Given the description of an element on the screen output the (x, y) to click on. 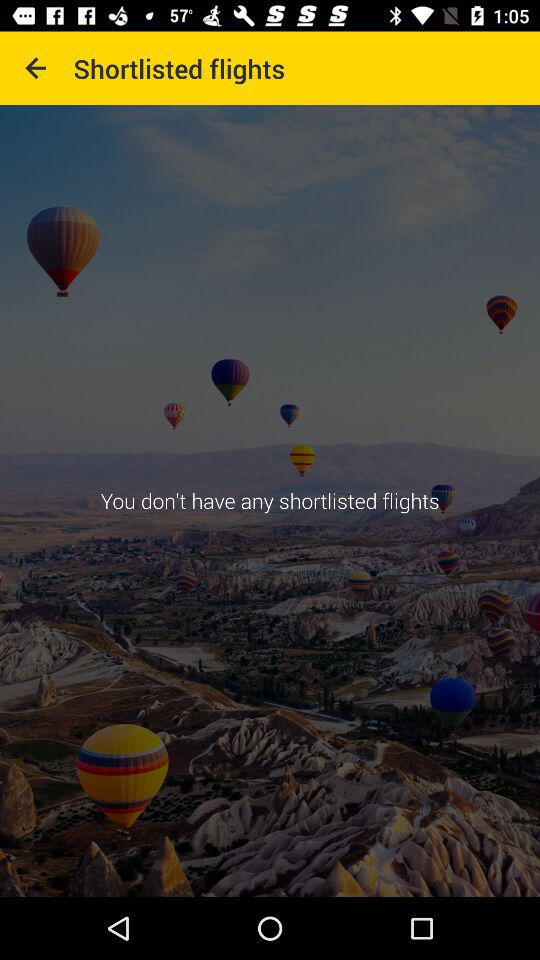
click item next to shortlisted flights icon (36, 68)
